Given the description of an element on the screen output the (x, y) to click on. 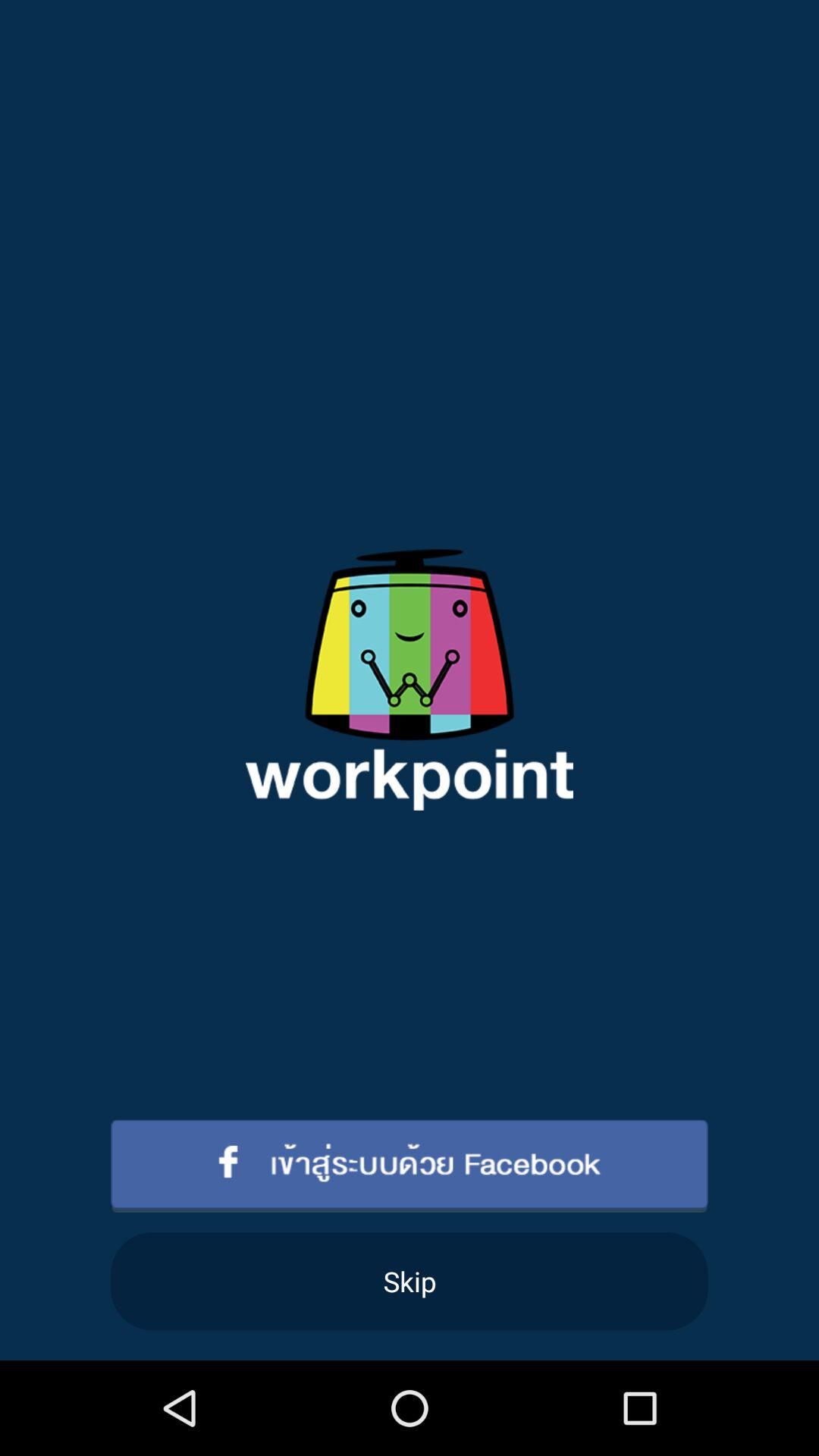
sign in with facebook (409, 1165)
